Given the description of an element on the screen output the (x, y) to click on. 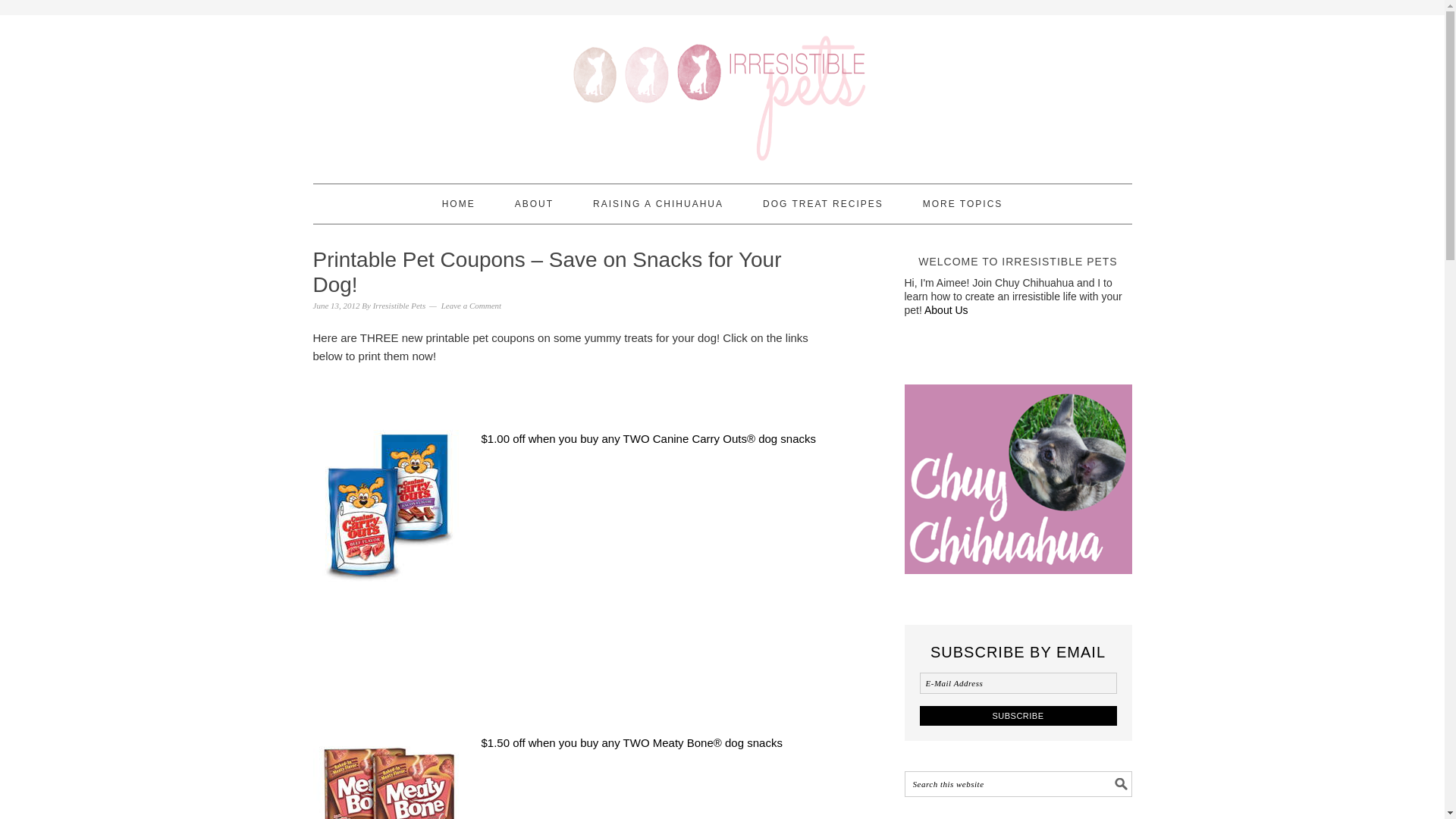
carryouts (388, 505)
ABOUT (534, 203)
MORE TOPICS (963, 203)
Subscribe (1017, 714)
About Us (946, 309)
Leave a Comment (470, 305)
IRRESISTIBLE PETS (722, 92)
HOME (459, 203)
DOG TREAT RECIPES (823, 203)
Irresistible Pets (399, 305)
RAISING A CHIHUAHUA (657, 203)
Subscribe (1017, 714)
